Given the description of an element on the screen output the (x, y) to click on. 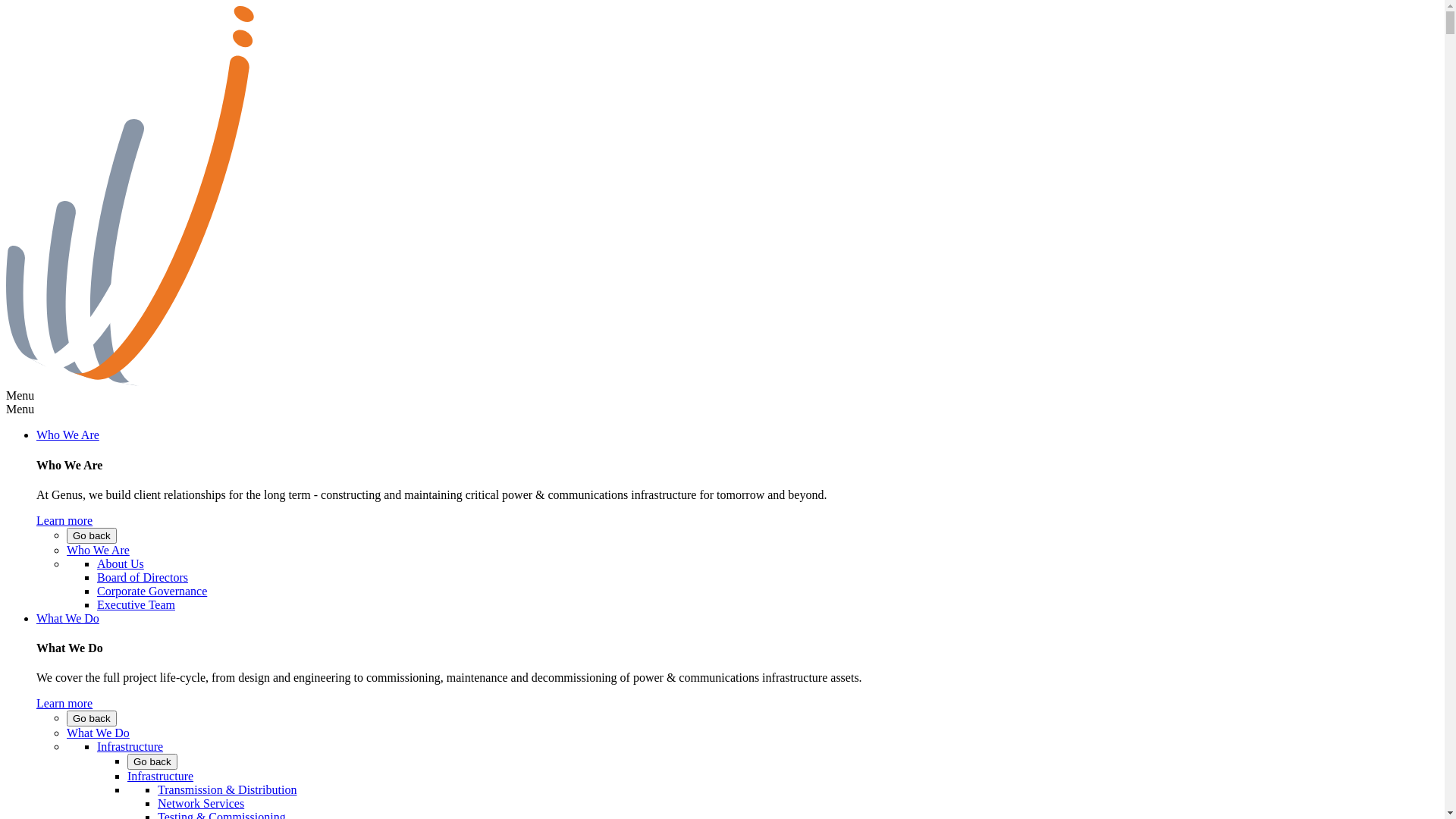
Learn more Element type: text (64, 702)
Who We Are Element type: text (67, 434)
Corporate Governance Element type: text (152, 590)
What We Do Element type: text (97, 732)
Executive Team Element type: text (136, 604)
Transmission & Distribution Element type: text (226, 789)
Go back Element type: text (91, 535)
Go back Element type: text (91, 718)
Network Services Element type: text (200, 803)
Board of Directors Element type: text (142, 577)
Menu Element type: text (20, 395)
Go back Element type: text (152, 761)
About Us Element type: text (120, 563)
Who We Are Element type: text (97, 549)
Learn more Element type: text (64, 520)
Infrastructure Element type: text (160, 775)
Infrastructure Element type: text (130, 746)
What We Do Element type: text (67, 617)
